Given the description of an element on the screen output the (x, y) to click on. 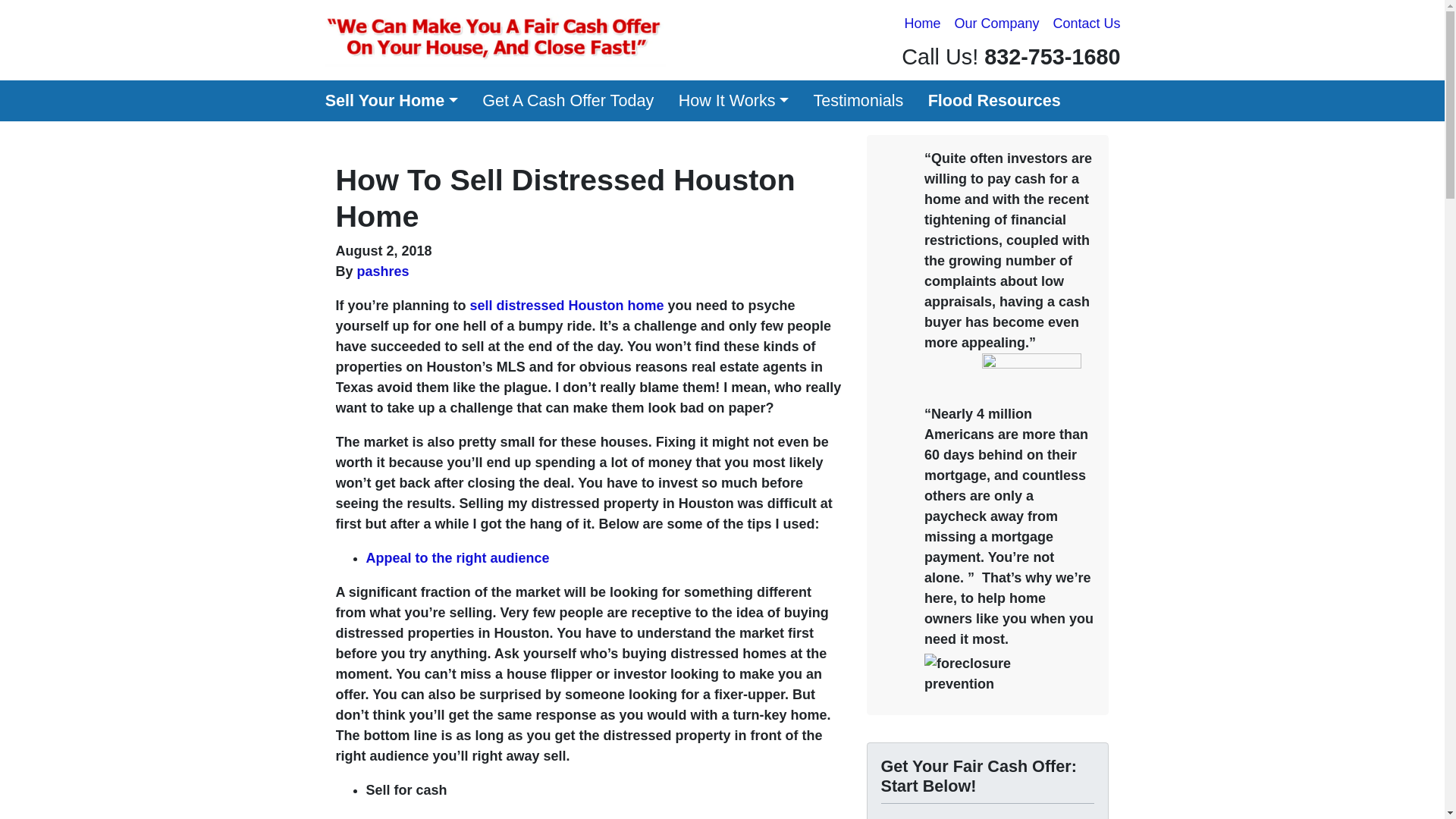
Contact Us (1085, 23)
sell distressed Houston home (566, 305)
Home (921, 23)
Our Company (996, 23)
Flood Resources (994, 100)
Testimonials (857, 100)
Sell Your Home (390, 100)
Appeal to the right audience (456, 557)
How It Works (732, 100)
Get A Cash Offer Today (567, 100)
Sell Your Home (390, 100)
Get A Cash Offer Today (567, 100)
Flood Resources (994, 100)
pashres (382, 271)
Testimonials (857, 100)
